Given the description of an element on the screen output the (x, y) to click on. 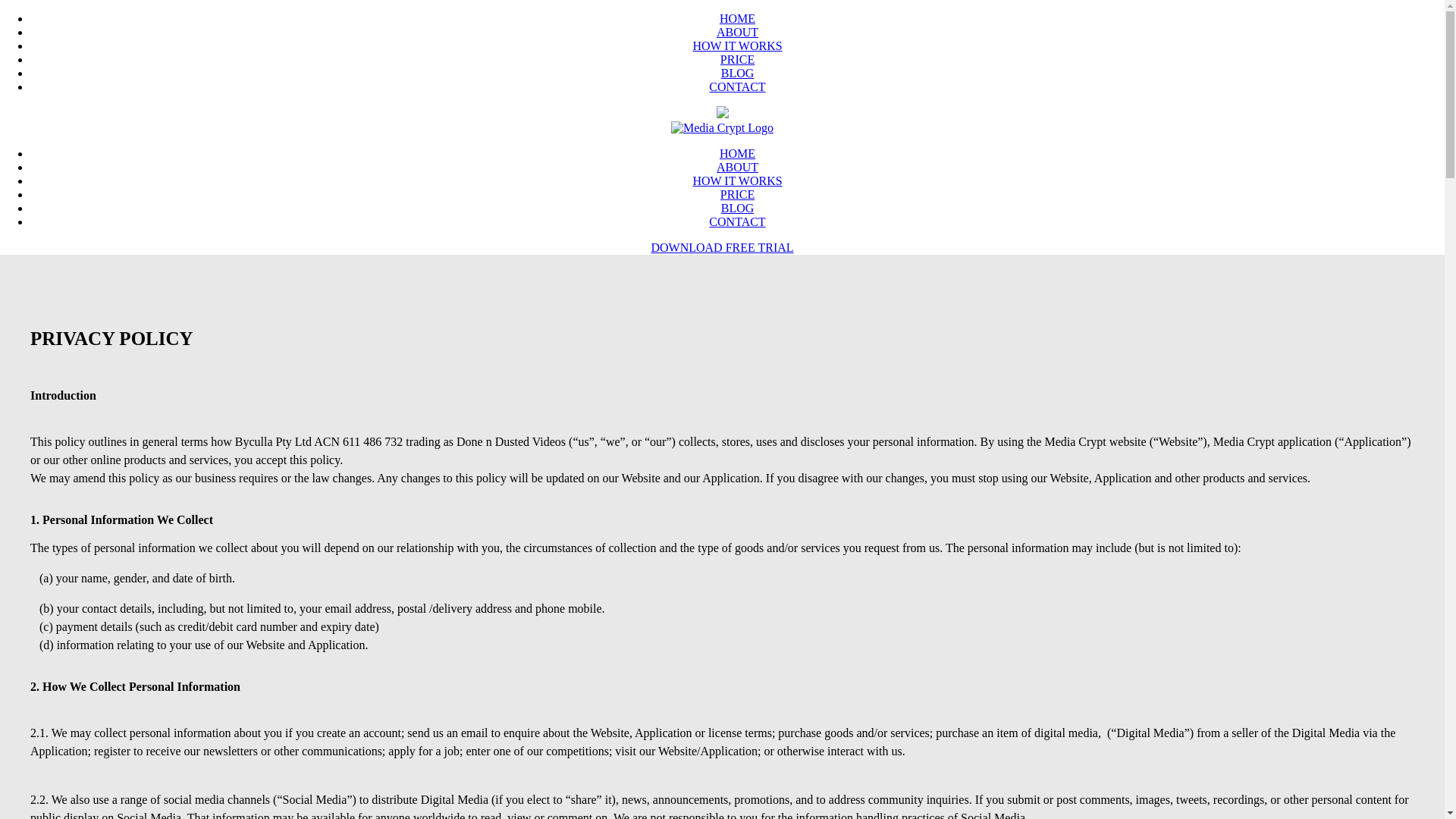
CONTACT Element type: text (737, 86)
HOME Element type: text (737, 18)
BLOG Element type: text (737, 207)
ABOUT Element type: text (737, 31)
BLOG Element type: text (737, 72)
CONTACT Element type: text (737, 221)
PRICE Element type: text (737, 59)
ABOUT Element type: text (737, 166)
PRICE Element type: text (737, 194)
HOW IT WORKS Element type: text (736, 45)
HOME Element type: text (737, 153)
DOWNLOAD FREE TRIAL Element type: text (721, 247)
HOW IT WORKS Element type: text (736, 180)
